Given the description of an element on the screen output the (x, y) to click on. 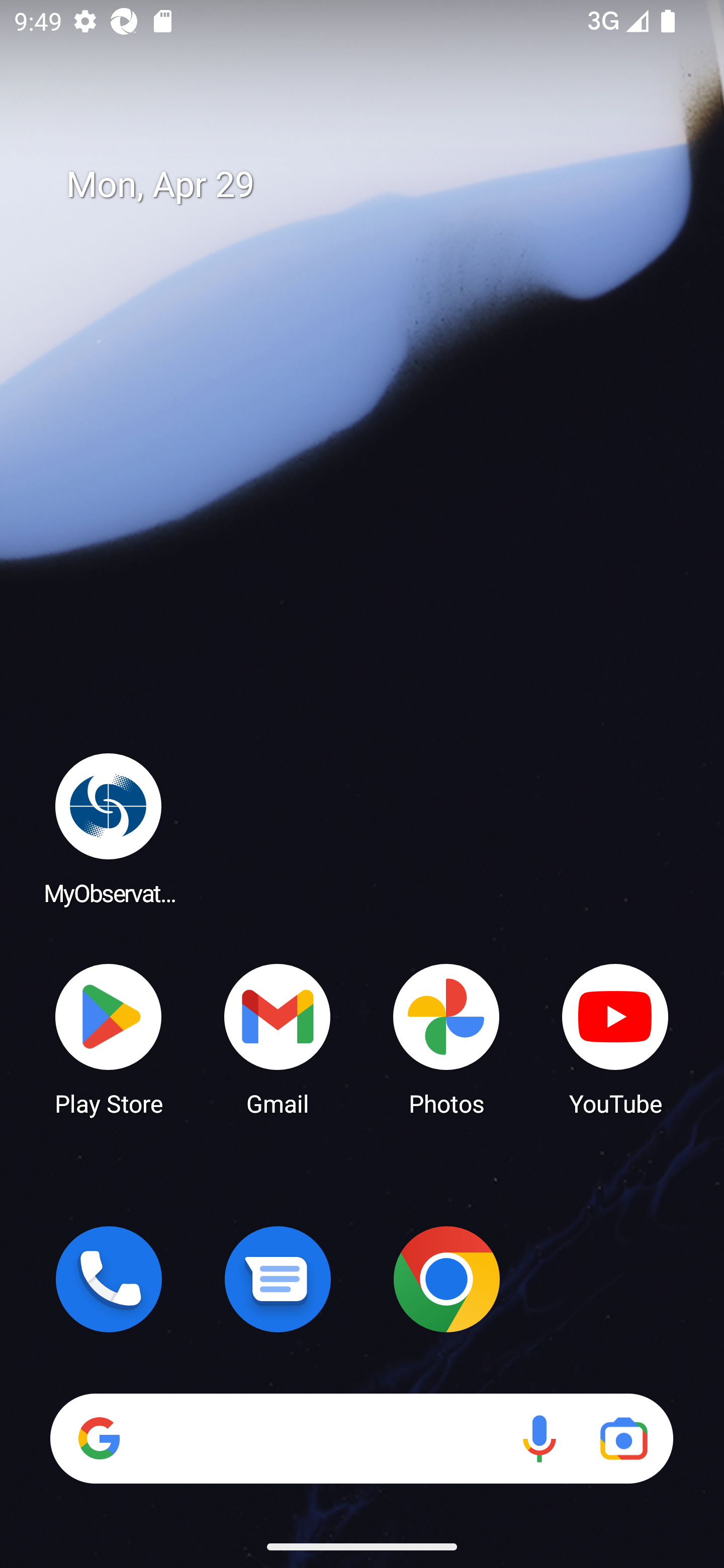
Mon, Apr 29 (375, 184)
MyObservatory (108, 828)
Play Store (108, 1038)
Gmail (277, 1038)
Photos (445, 1038)
YouTube (615, 1038)
Phone (108, 1279)
Messages (277, 1279)
Chrome (446, 1279)
Voice search (539, 1438)
Google Lens (623, 1438)
